Given the description of an element on the screen output the (x, y) to click on. 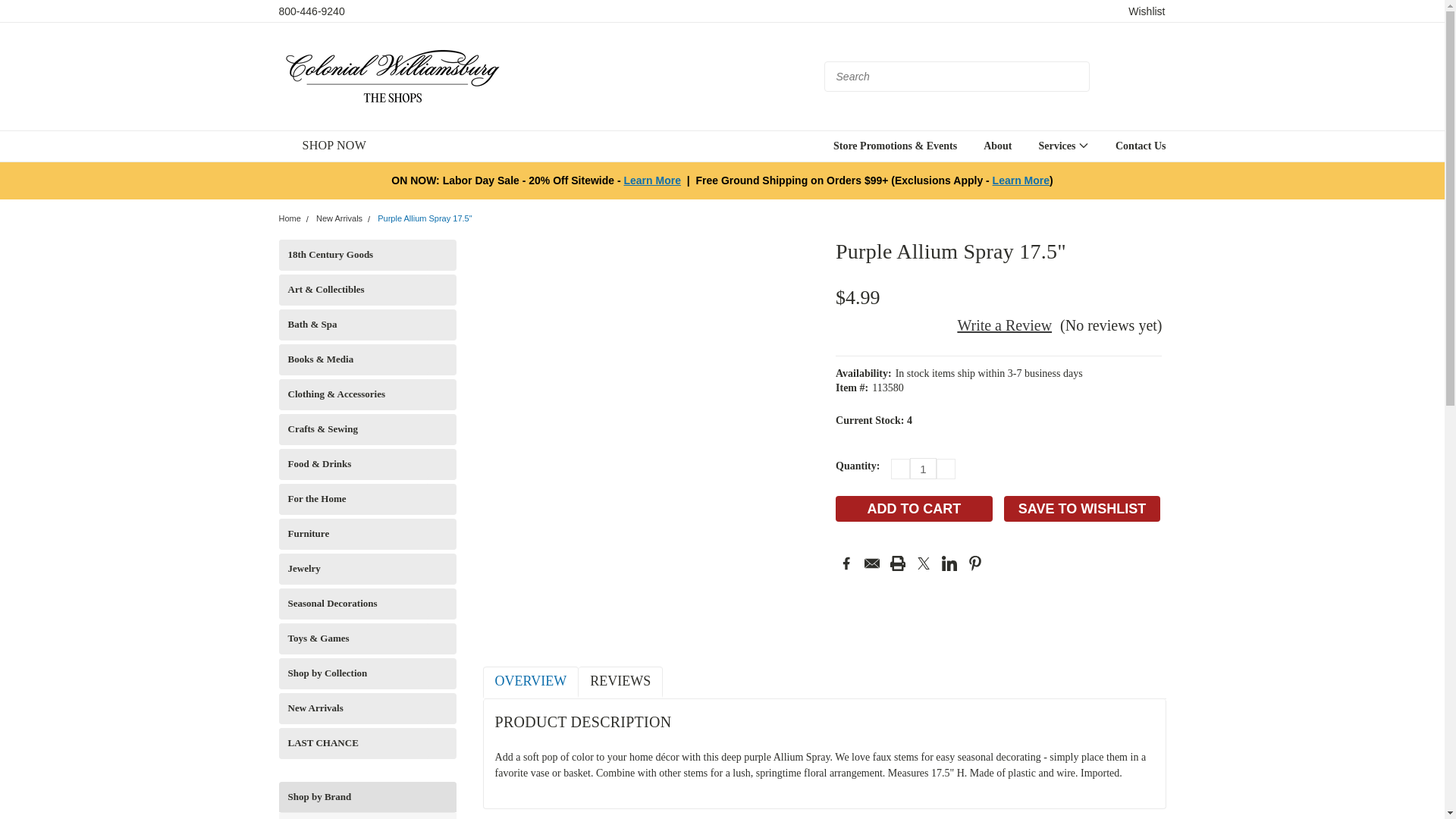
Pinterest (975, 563)
Email (871, 563)
Linkedin (949, 563)
Print (897, 563)
Add to Cart (913, 508)
Facebook (845, 563)
1 (923, 468)
Wishlist (1146, 10)
The Shops at Colonial Williamsburg (392, 76)
800-446-9240 (312, 10)
